Given the description of an element on the screen output the (x, y) to click on. 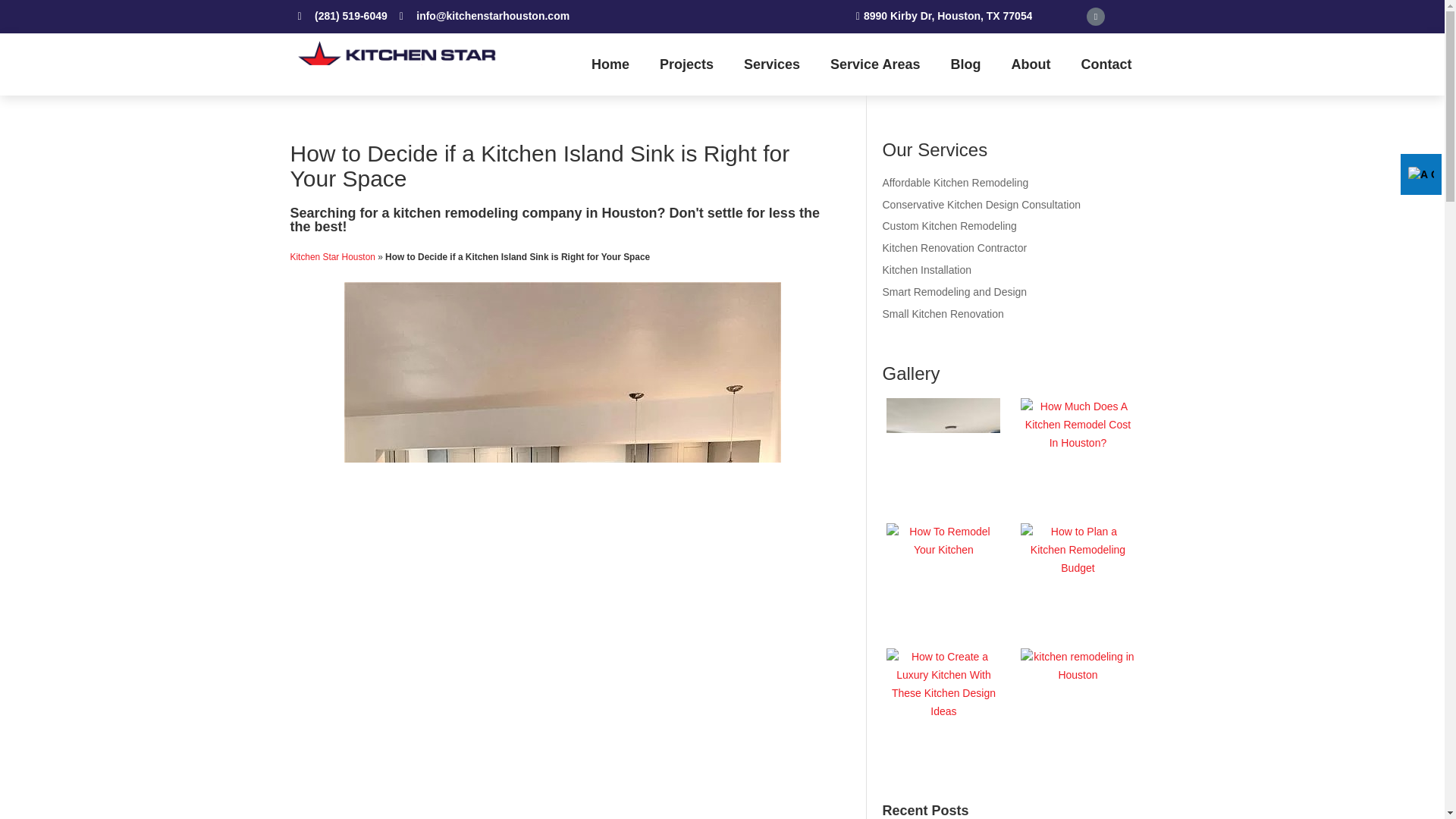
Service Areas (874, 63)
About (1030, 63)
Home (610, 63)
Services (772, 63)
Contact (1106, 63)
Projects (687, 63)
Blog (965, 63)
